Given the description of an element on the screen output the (x, y) to click on. 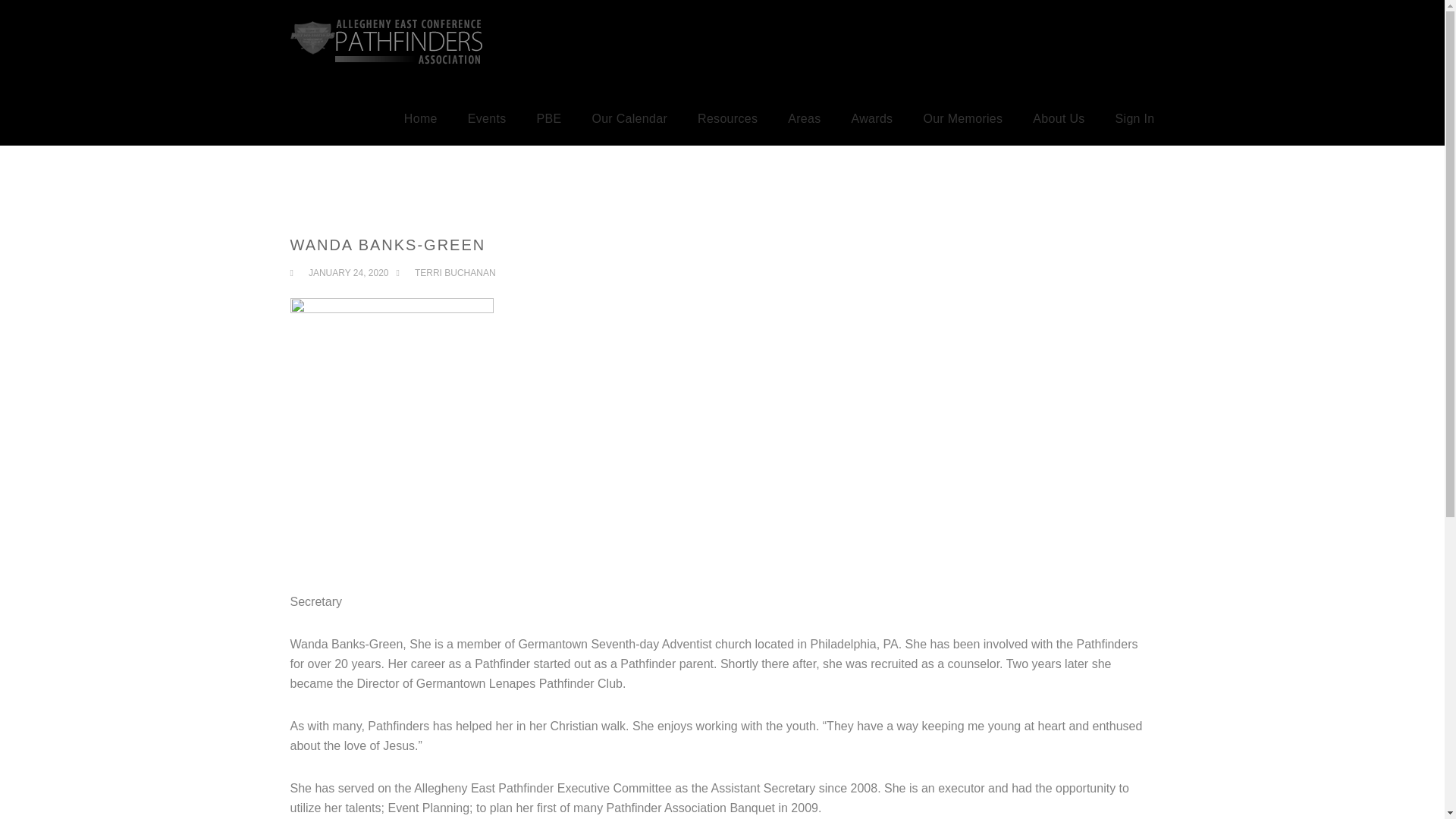
Our Calendar (628, 118)
About Us (1058, 118)
Our Memories (963, 118)
Resources (727, 118)
